Given the description of an element on the screen output the (x, y) to click on. 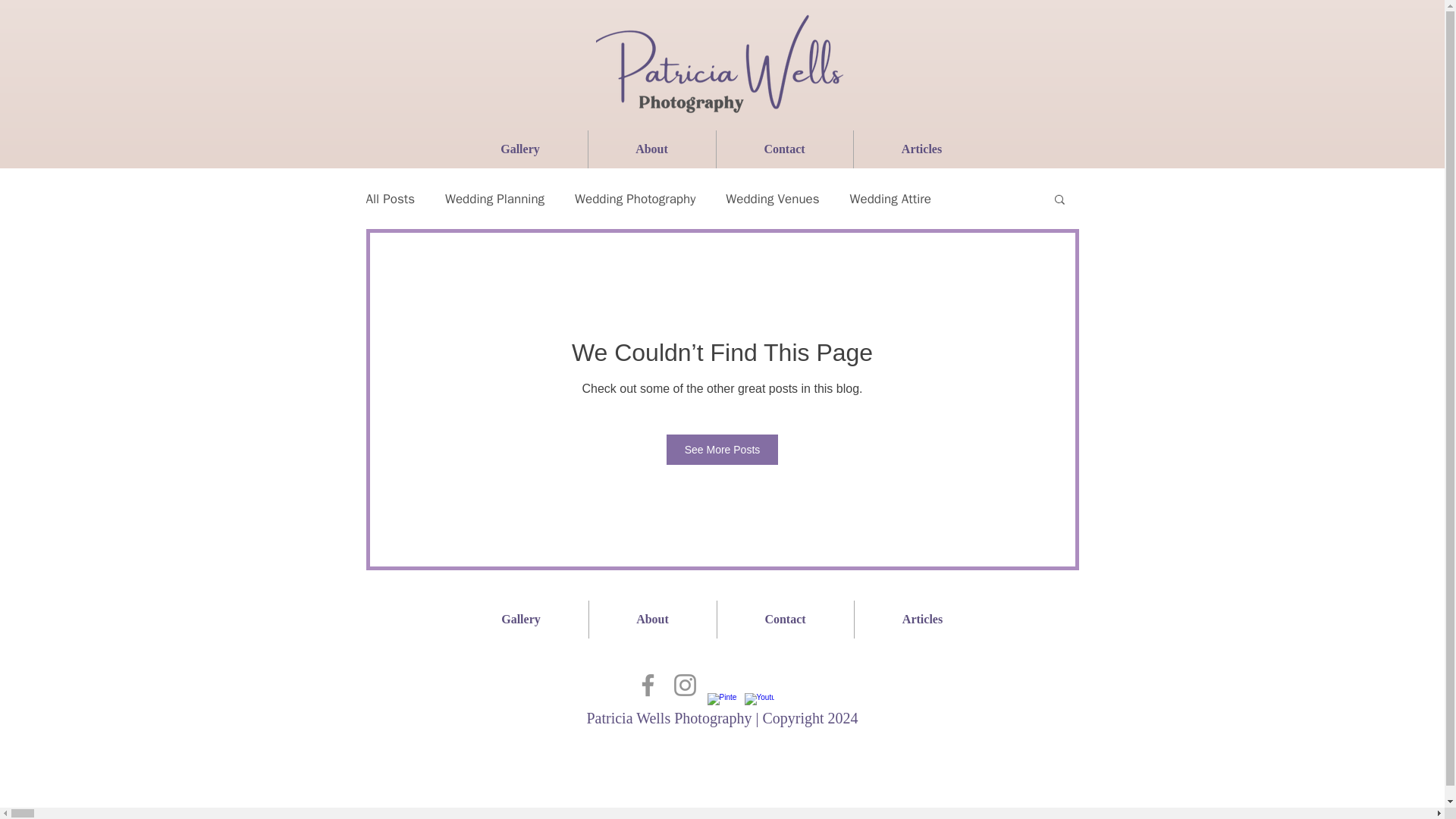
Wedding Photography (635, 198)
About (652, 149)
Articles (921, 149)
Contact (783, 149)
Gallery (520, 619)
Wedding Attire (890, 198)
About (652, 619)
Articles (921, 619)
See More Posts (722, 449)
Contact (785, 619)
Wedding Planning (494, 198)
All Posts (389, 198)
Wedding Venues (771, 198)
Gallery (520, 149)
